Given the description of an element on the screen output the (x, y) to click on. 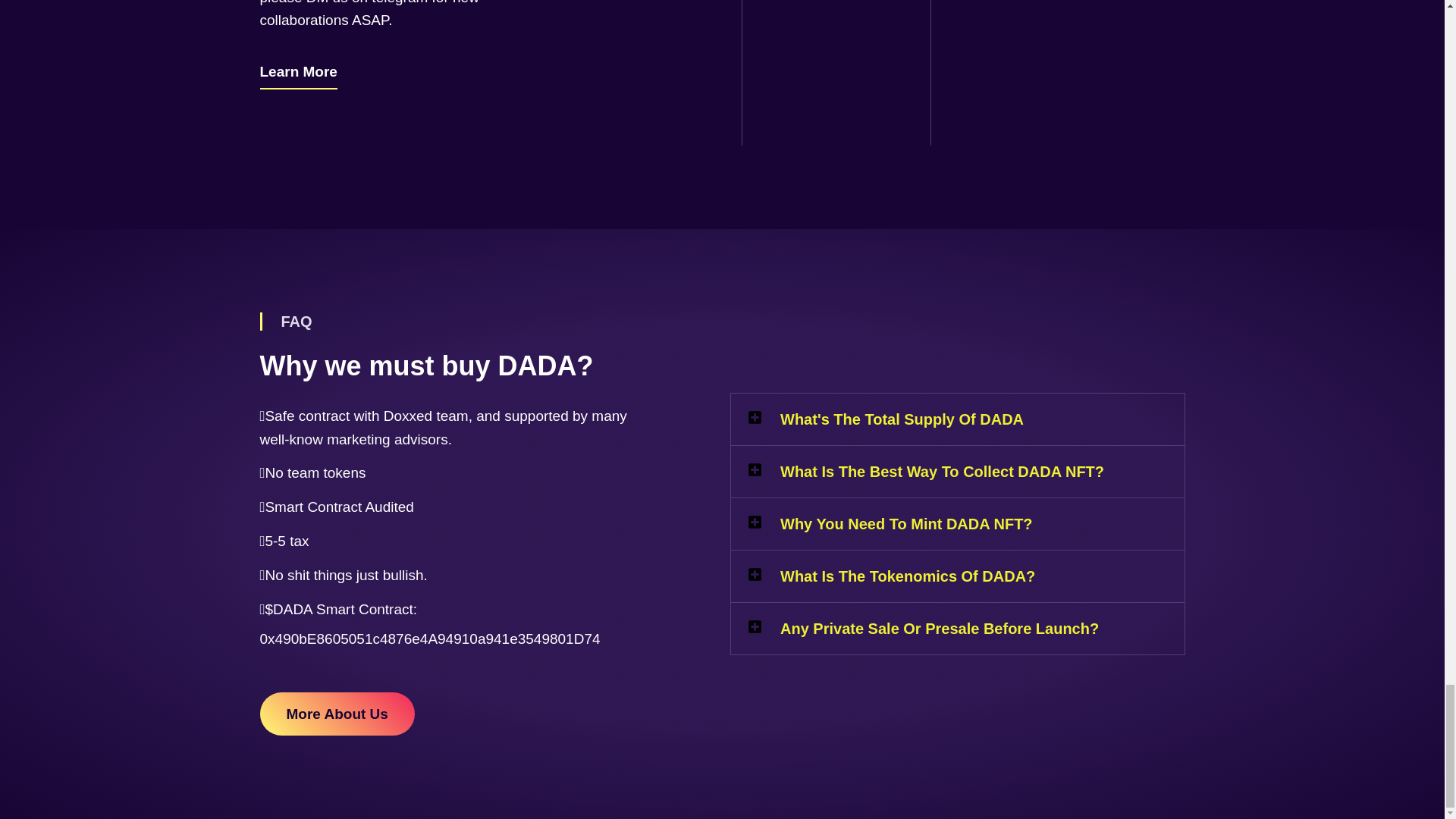
What'S The Total Supply Of DADA (901, 419)
More About Us (336, 713)
Learn More (297, 73)
What Is The Best Way To Collect DADA NFT? (941, 471)
